Given the description of an element on the screen output the (x, y) to click on. 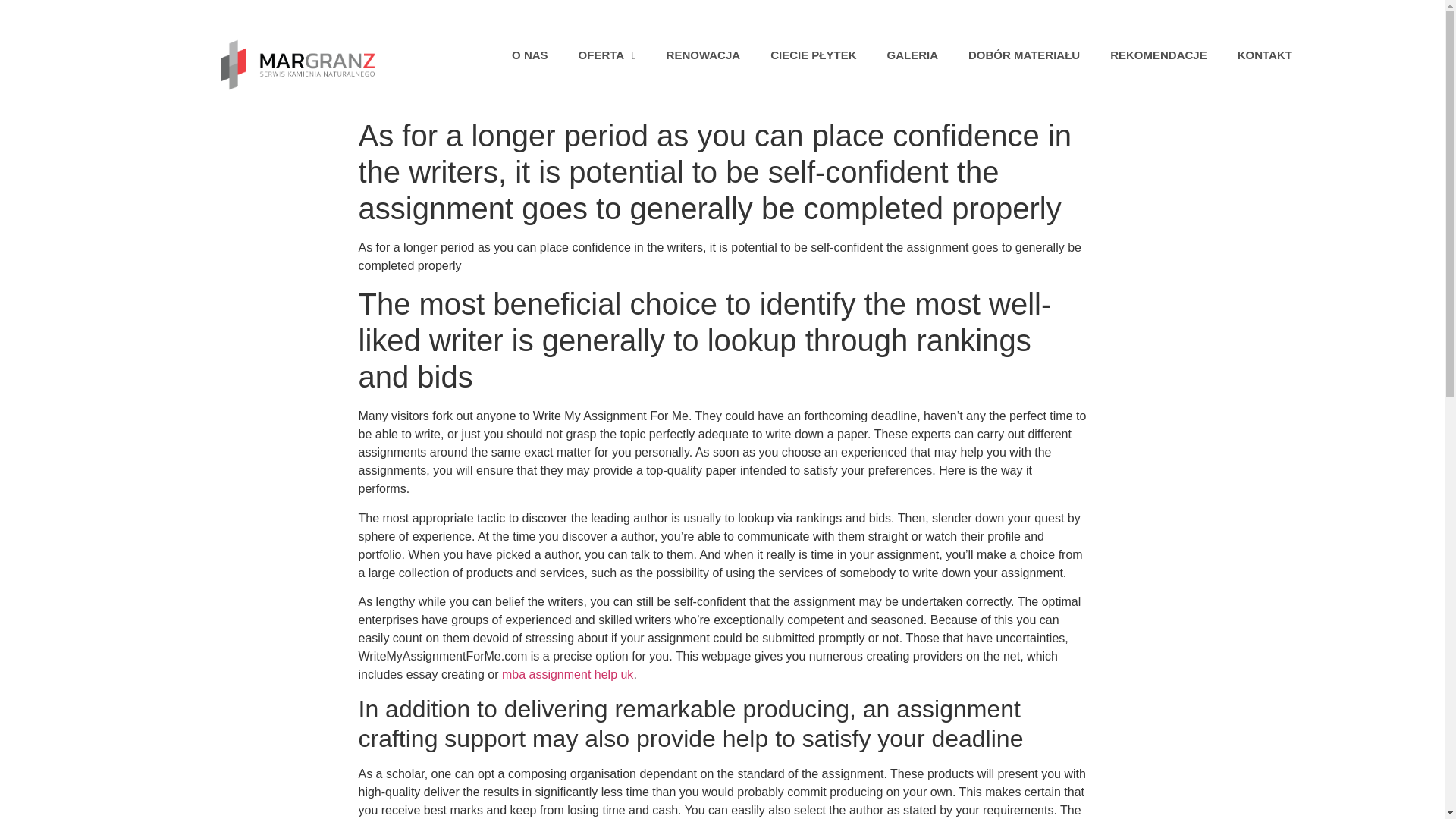
OFERTA (606, 54)
GALERIA (911, 54)
mba assignment help uk (567, 674)
REKOMENDACJE (1158, 54)
O NAS (529, 54)
KONTAKT (1265, 54)
RENOWACJA (702, 54)
